Given the description of an element on the screen output the (x, y) to click on. 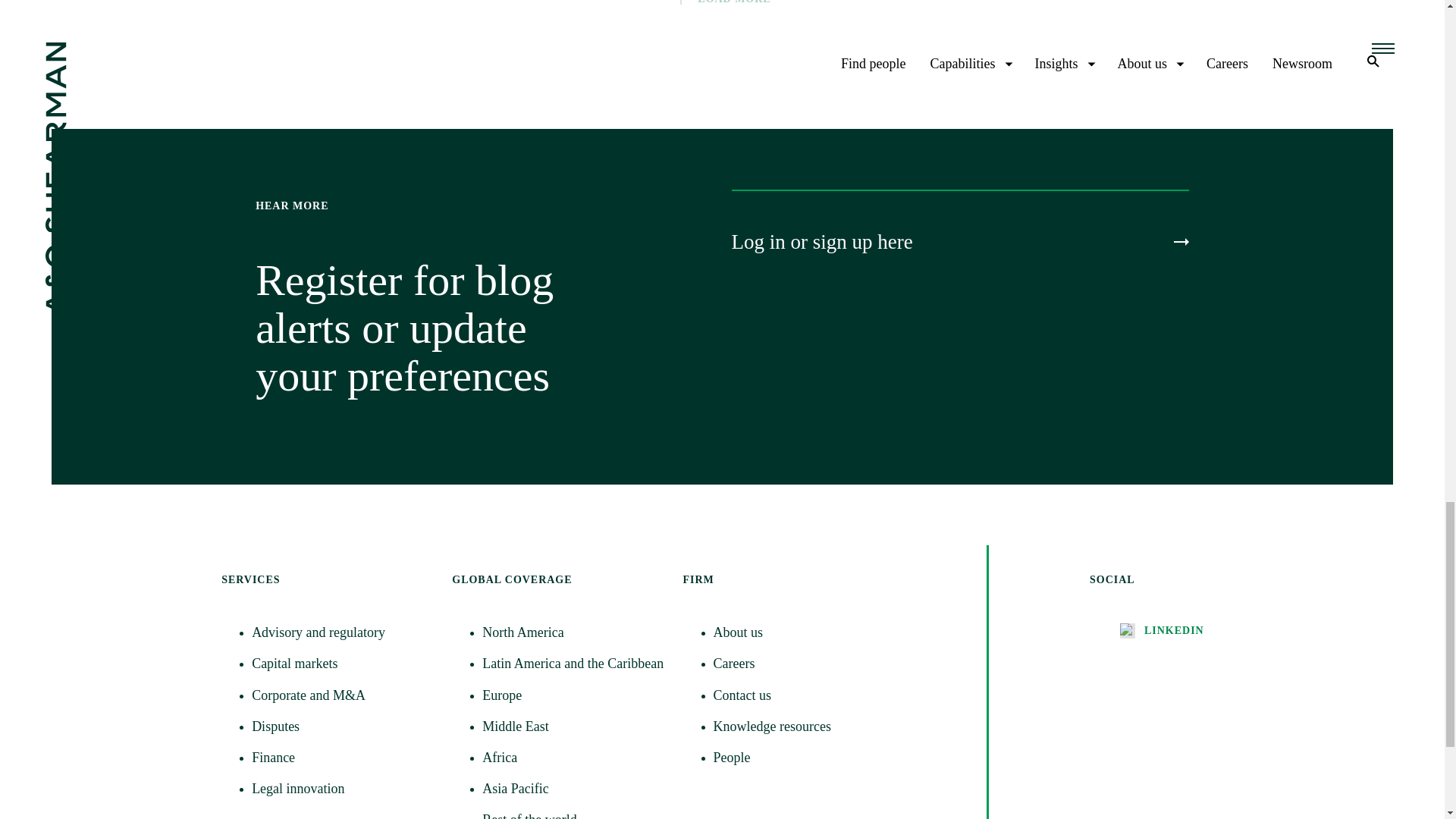
Africa (572, 757)
North America (572, 632)
Log in or sign up here (959, 242)
Disputes (342, 726)
Capital markets (342, 663)
Legal innovation (342, 788)
Careers (804, 663)
Europe (572, 695)
Asia Pacific (572, 788)
Latin America and the Caribbean (572, 663)
Advisory and regulatory (342, 632)
Middle East (572, 726)
Finance (342, 757)
LOAD MORE (721, 3)
Contact us (804, 695)
